Given the description of an element on the screen output the (x, y) to click on. 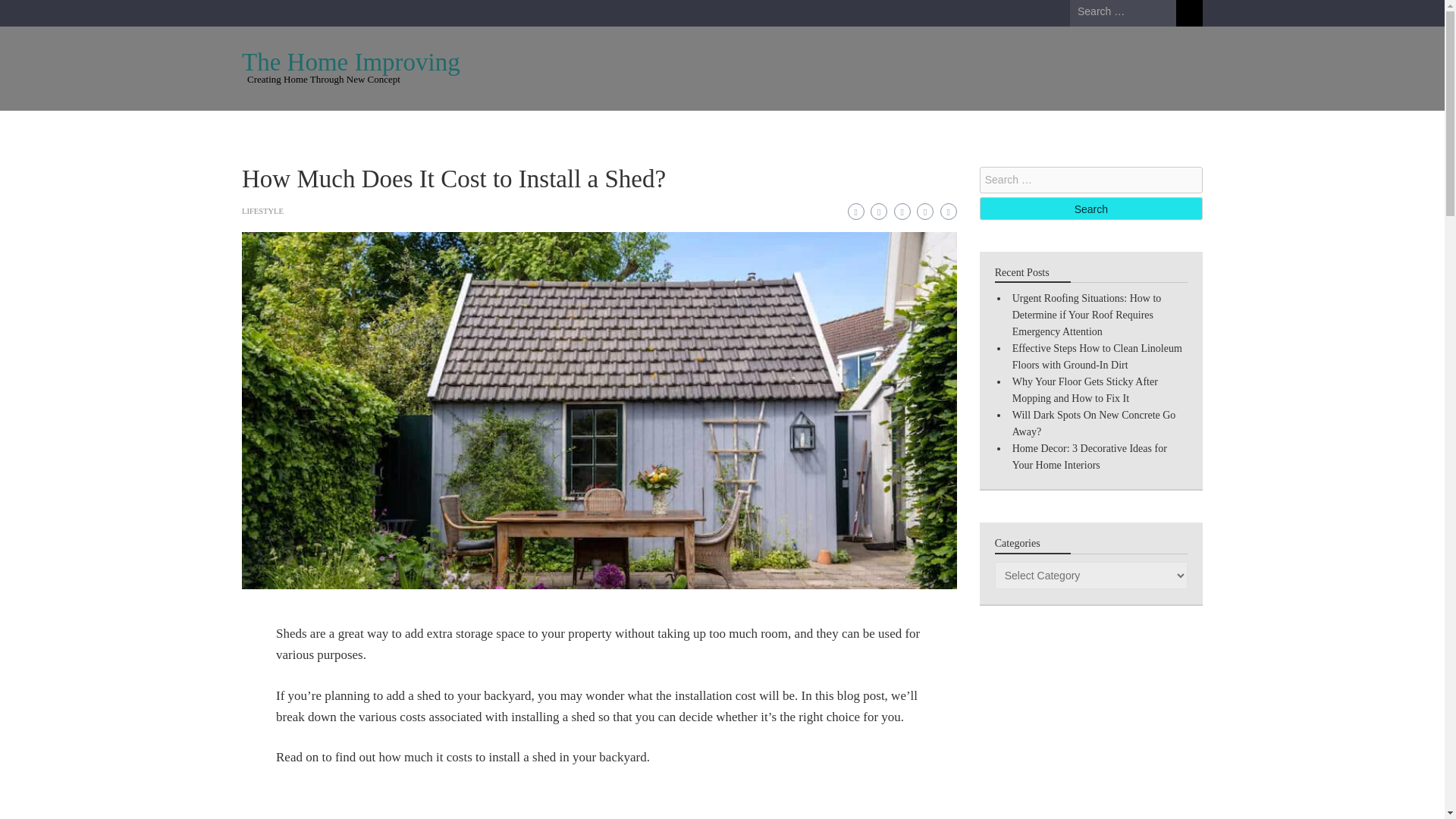
Appliances (284, 129)
Real Estate (1026, 129)
Interiors (856, 129)
Search for: (1090, 180)
Archritecture (373, 129)
Search (1090, 208)
Search (1189, 13)
Kitchen (531, 129)
Furniture (458, 129)
Search (1189, 13)
LIFESTYLE (262, 211)
DIY (595, 129)
Search for: (1123, 11)
Search (1090, 208)
Smart Home (938, 129)
